Given the description of an element on the screen output the (x, y) to click on. 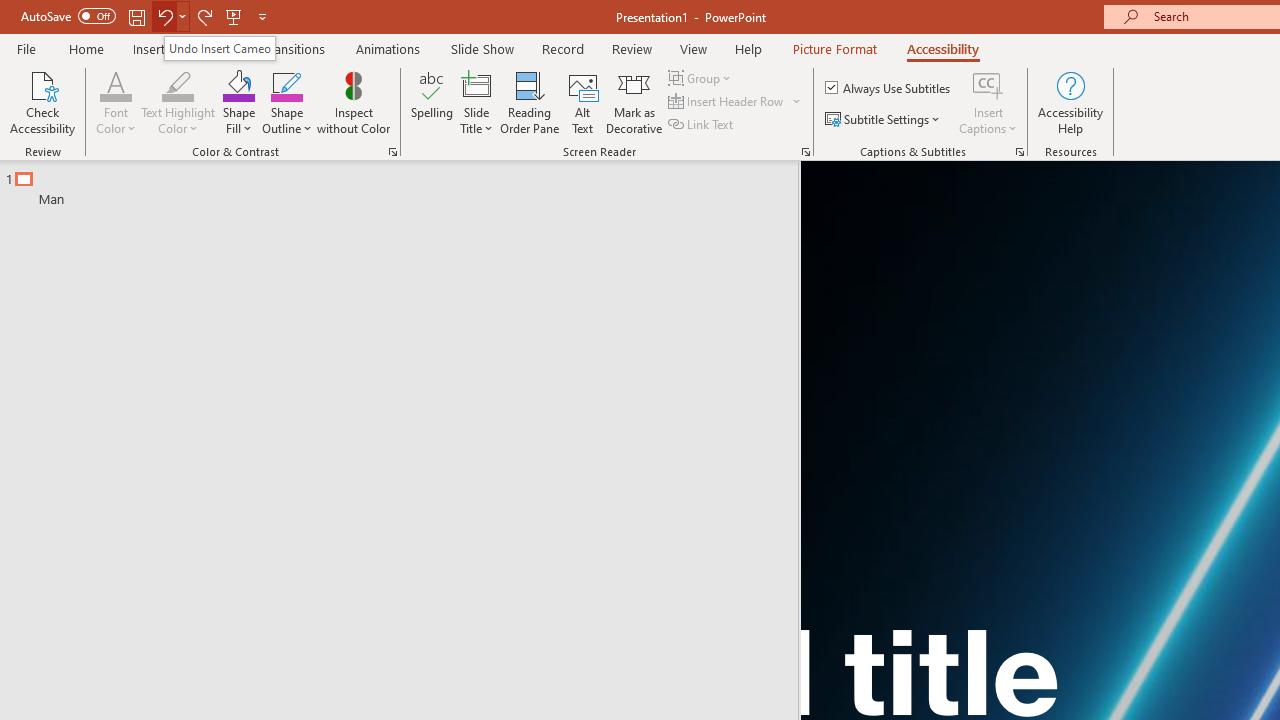
Mark as Decorative (634, 102)
Color & Contrast (392, 151)
Accessibility Help (1070, 102)
Slide Title (476, 84)
